Given the description of an element on the screen output the (x, y) to click on. 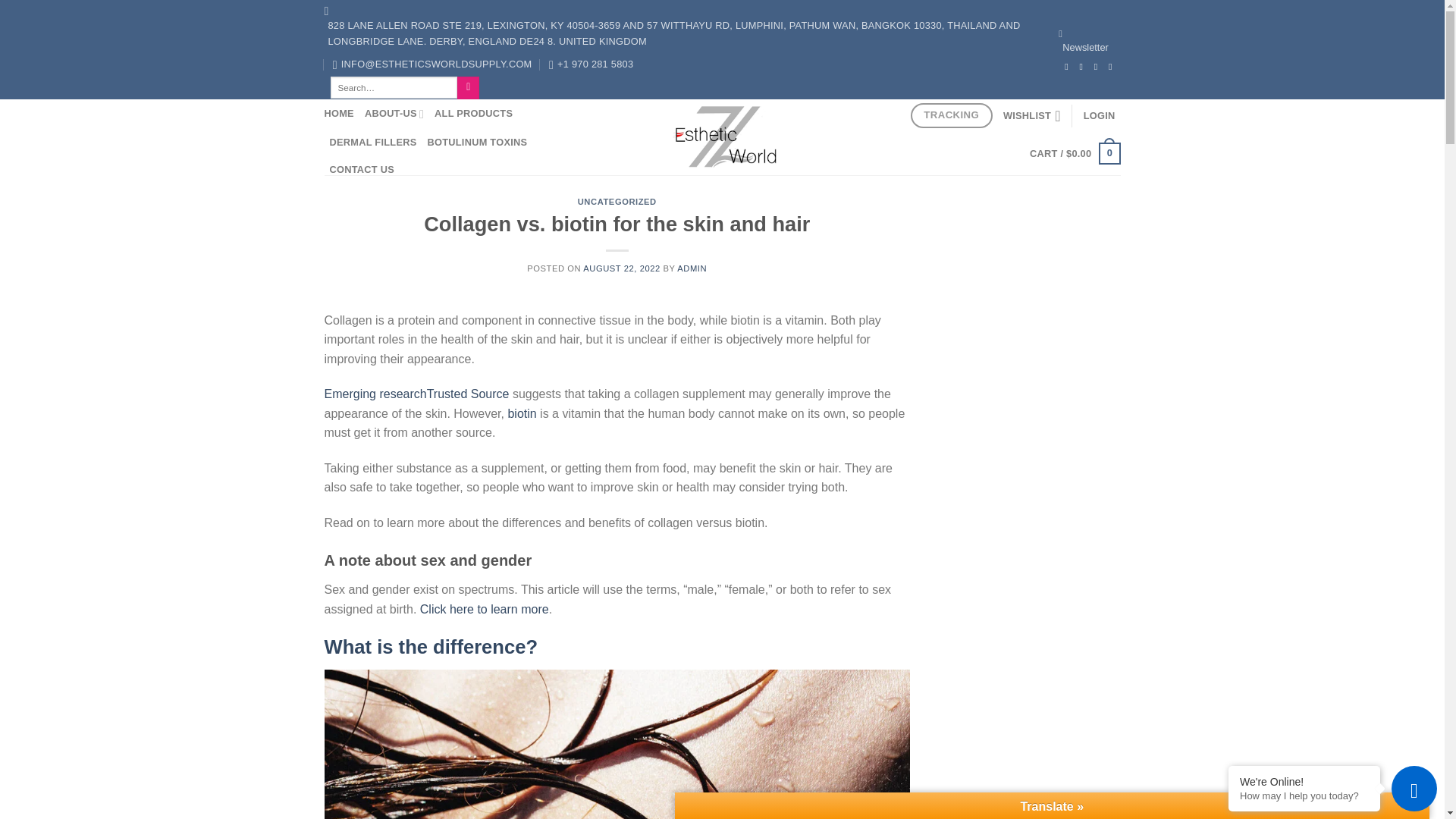
CONTACT US (361, 169)
What is the difference? (431, 646)
DERMAL FILLERS (372, 142)
AUGUST 22, 2022 (621, 267)
ADMIN (691, 267)
WISHLIST (1032, 115)
Cart (1074, 153)
ALL PRODUCTS (472, 113)
UNCATEGORIZED (617, 201)
ABOUT-US (394, 113)
Emerging researchTrusted Source (416, 393)
BOTULINUM TOXINS (476, 142)
Newsletter (1085, 42)
LOGIN (1099, 115)
